Given the description of an element on the screen output the (x, y) to click on. 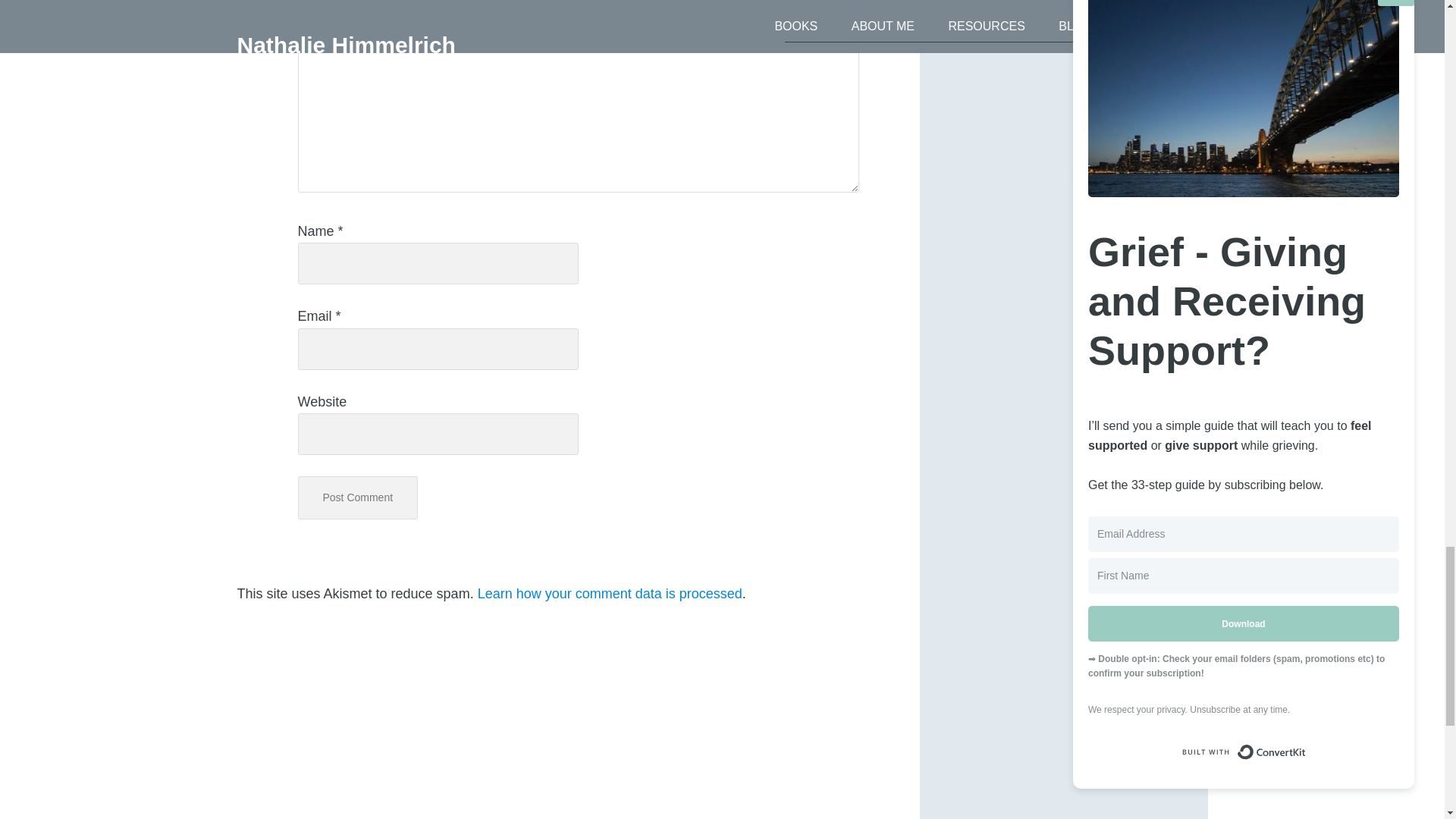
Post Comment (357, 497)
